Given the description of an element on the screen output the (x, y) to click on. 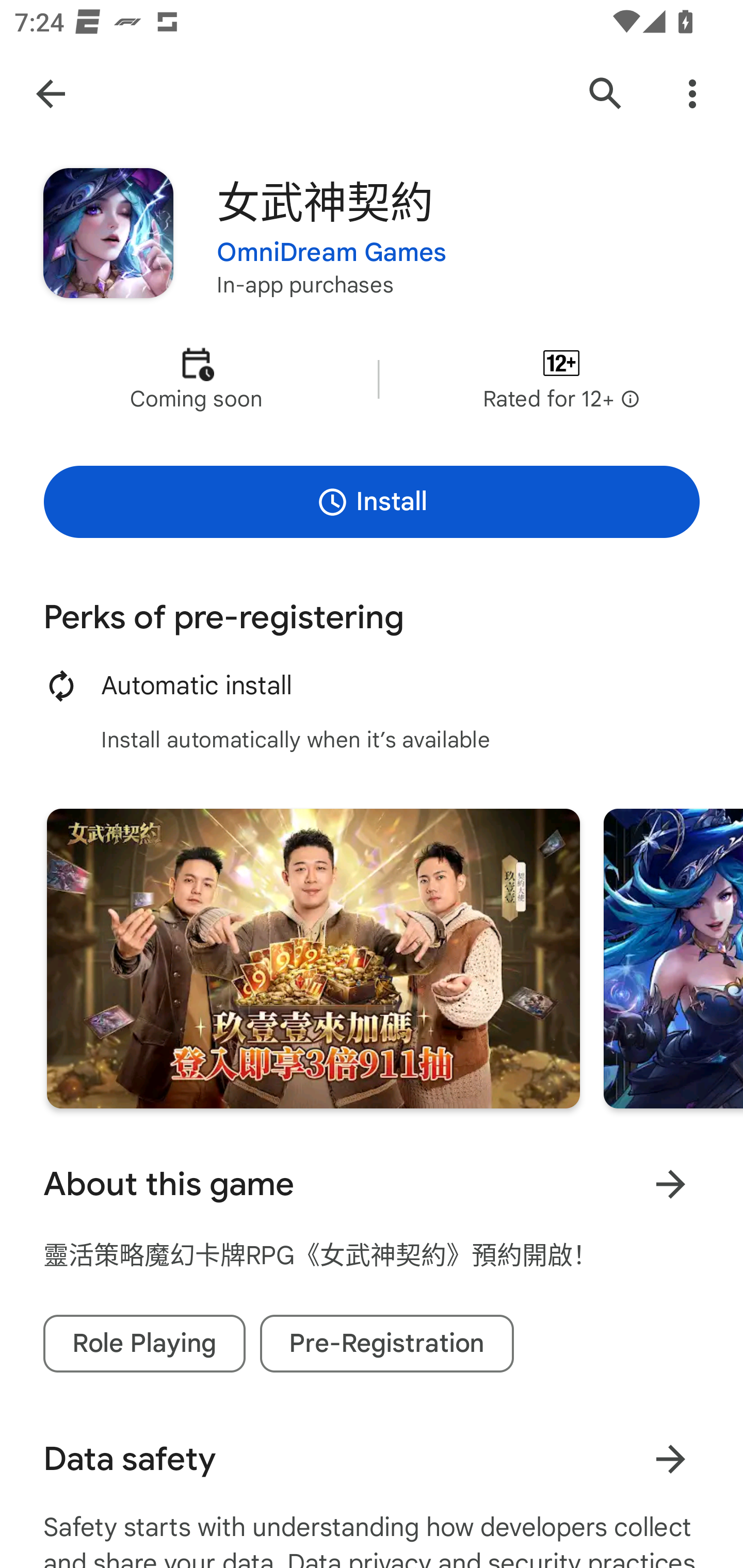
Navigate up (50, 93)
Search Google Play (605, 93)
More Options (692, 93)
OmniDream Games (331, 253)
Content rating Rated for 12+ (561, 379)
Install Pre-register to install (371, 501)
Screenshot "1" of "5" (313, 958)
About this game Learn more About this game (371, 1184)
Learn more About this game (670, 1184)
Role Playing tag (144, 1343)
Pre-Registration tag (387, 1343)
Data safety Learn more about data safety (371, 1458)
Learn more about data safety (670, 1458)
